Given the description of an element on the screen output the (x, y) to click on. 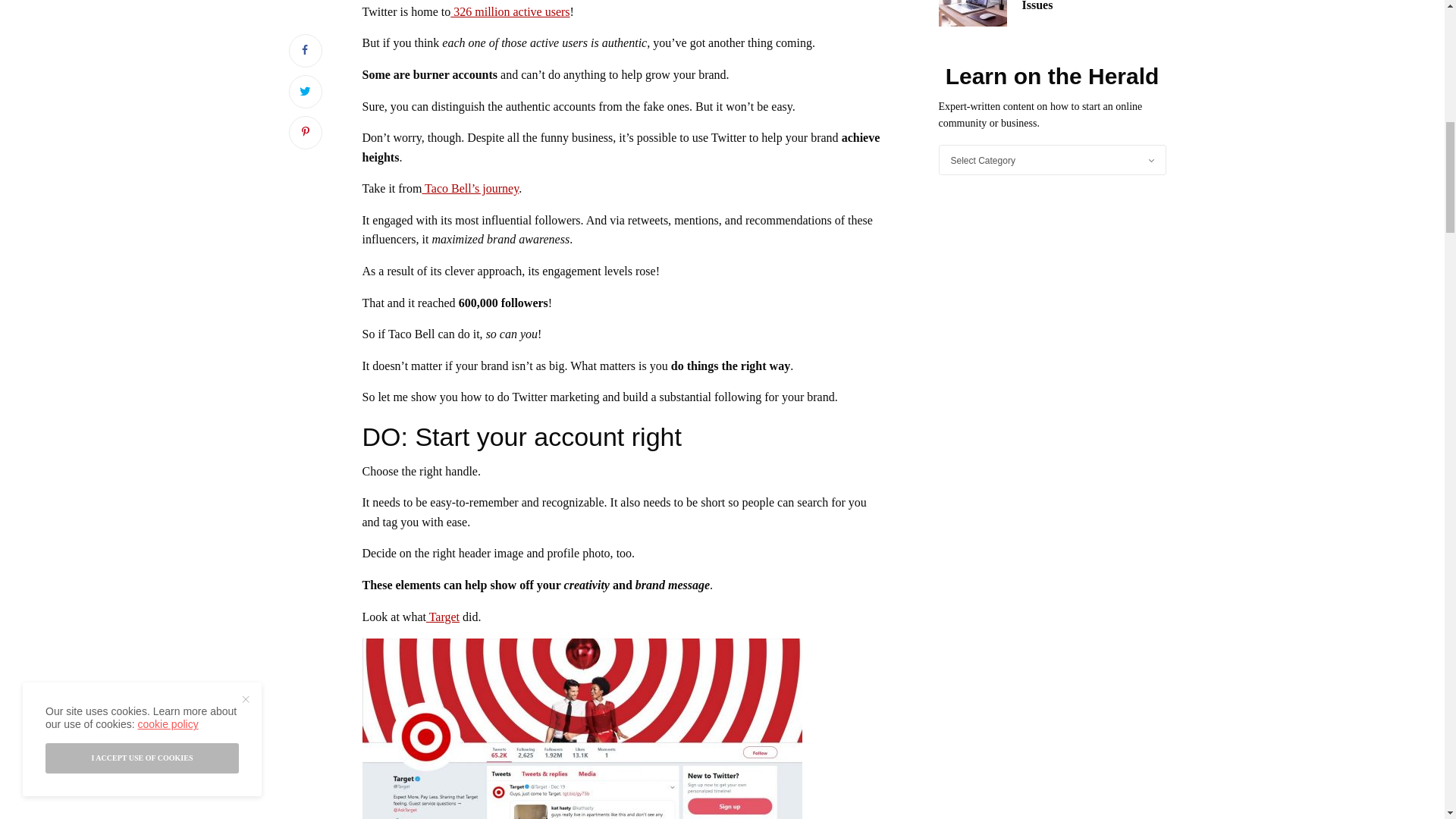
Target (443, 616)
Tips for a Smooth Website Transition: Avoiding SEO Issues (1094, 6)
326 million active users (509, 11)
